Given the description of an element on the screen output the (x, y) to click on. 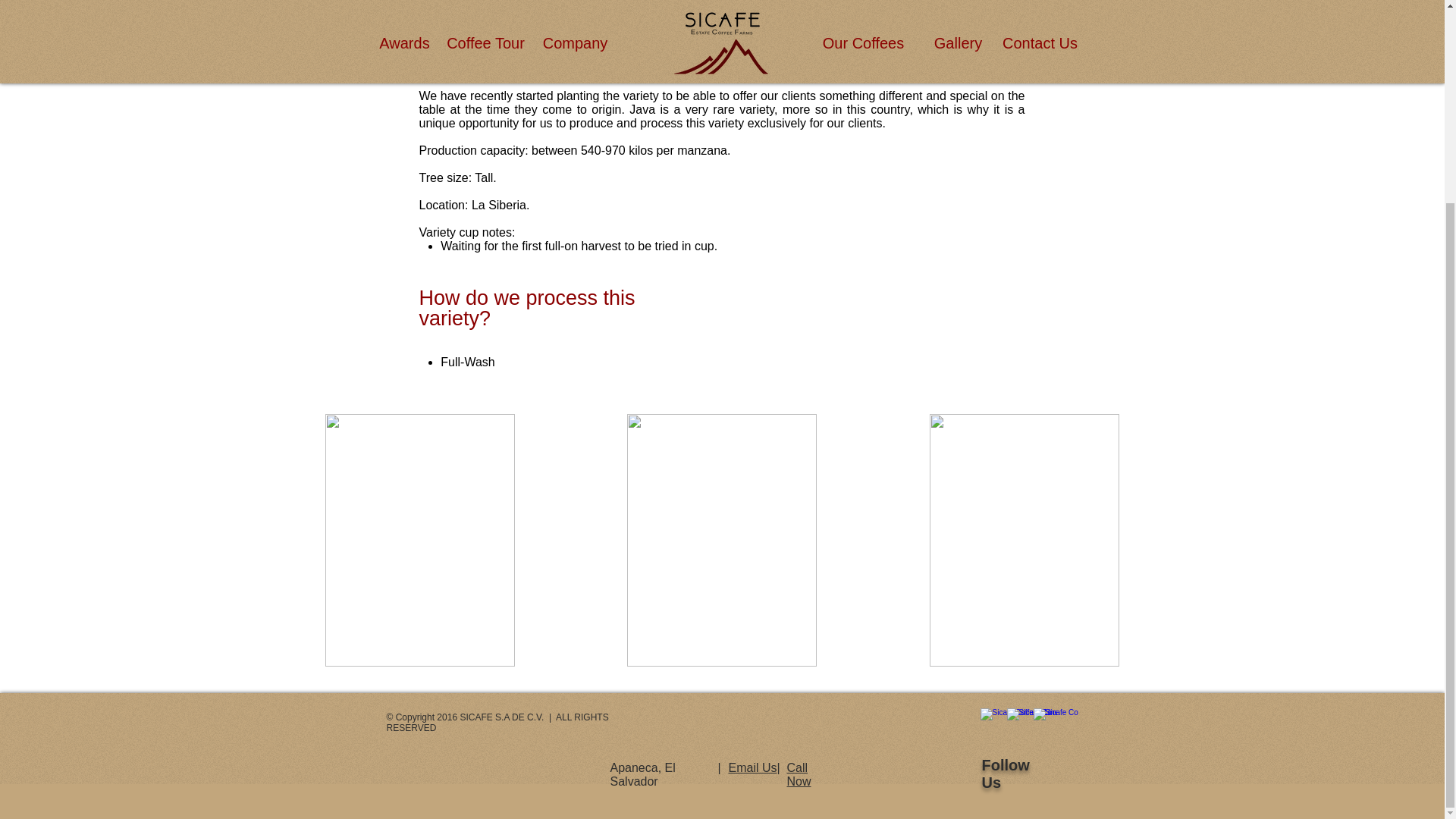
Call Now (798, 774)
Email Us (752, 767)
